Given the description of an element on the screen output the (x, y) to click on. 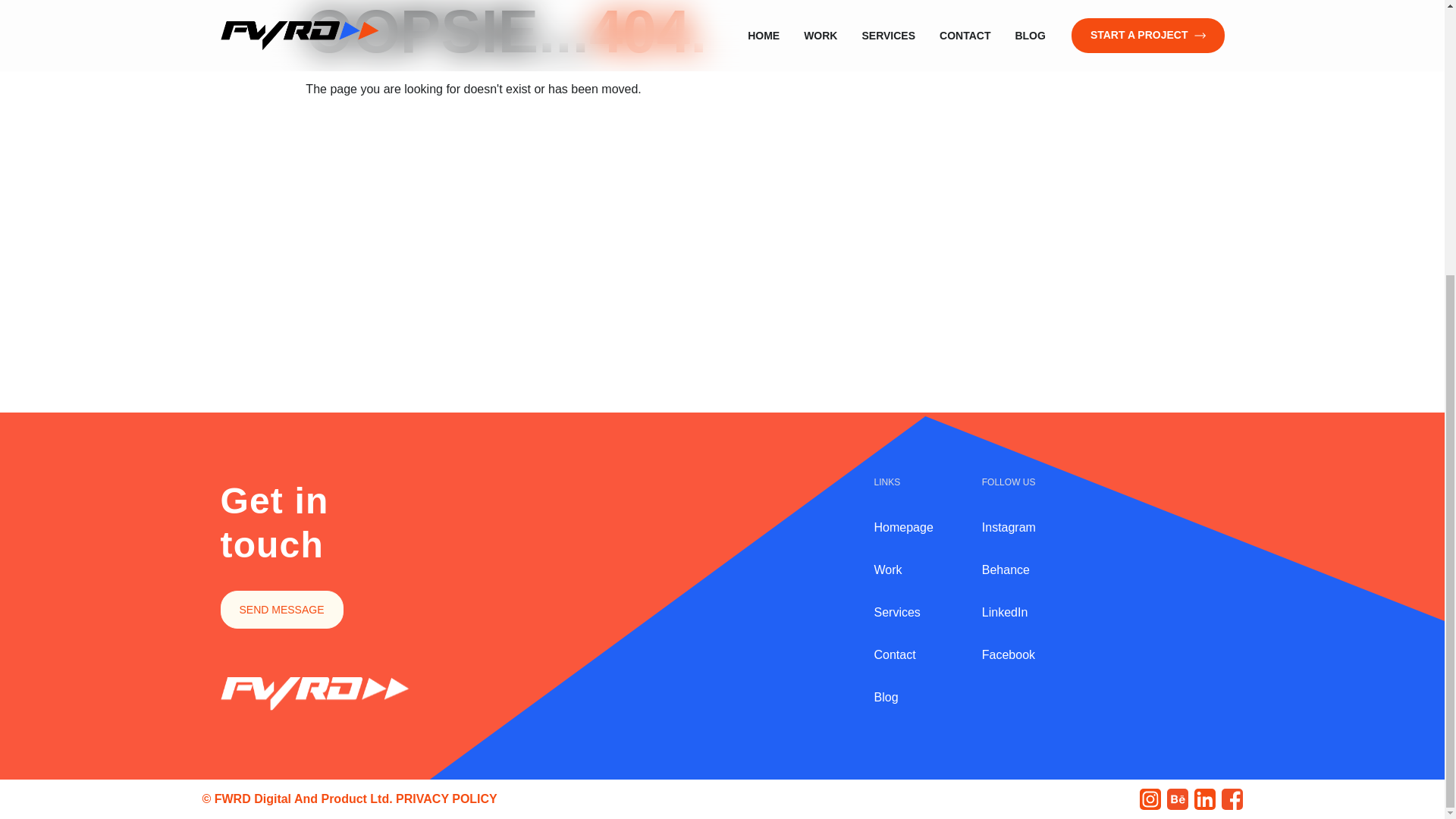
Services (903, 612)
Instagram (1008, 527)
Facebook (1008, 655)
LinkedIn (1008, 612)
Homepage (903, 527)
Blog (903, 697)
Contact (903, 655)
Work (903, 570)
SEND MESSAGE (280, 609)
Behance (1008, 570)
